Given the description of an element on the screen output the (x, y) to click on. 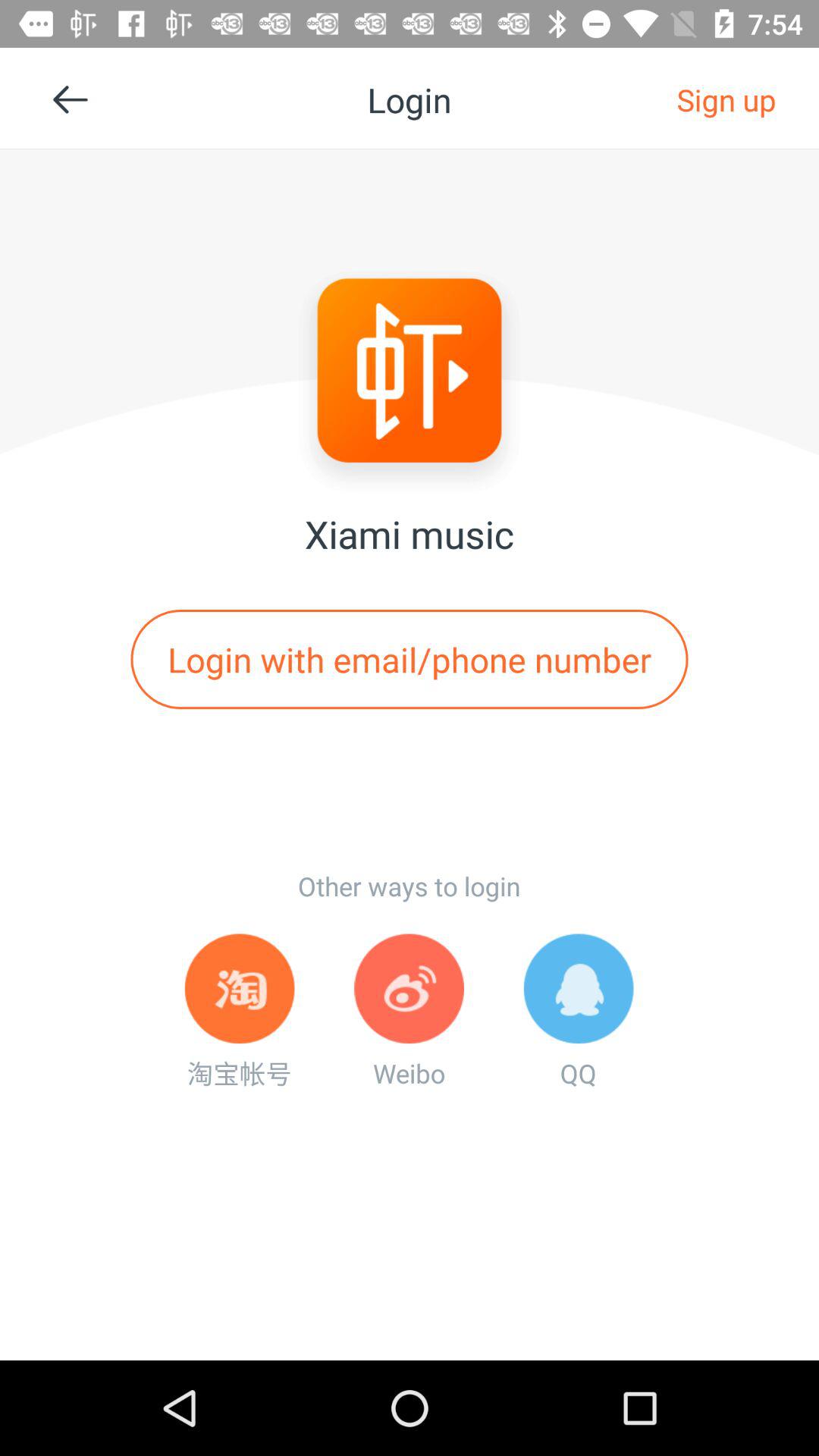
turn on item below other ways to item (409, 1011)
